Given the description of an element on the screen output the (x, y) to click on. 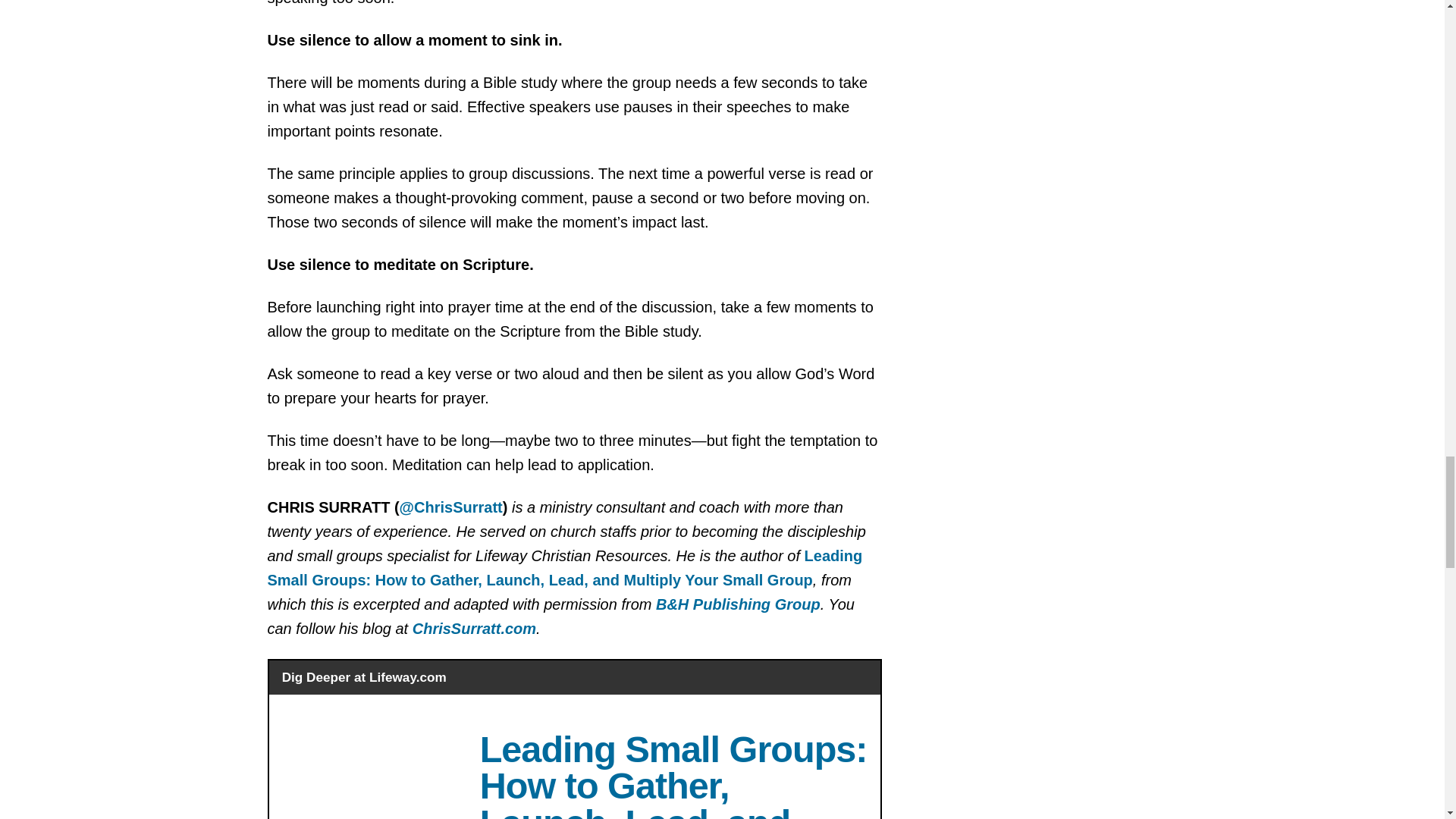
ChrisSurratt.com (473, 628)
